Given the description of an element on the screen output the (x, y) to click on. 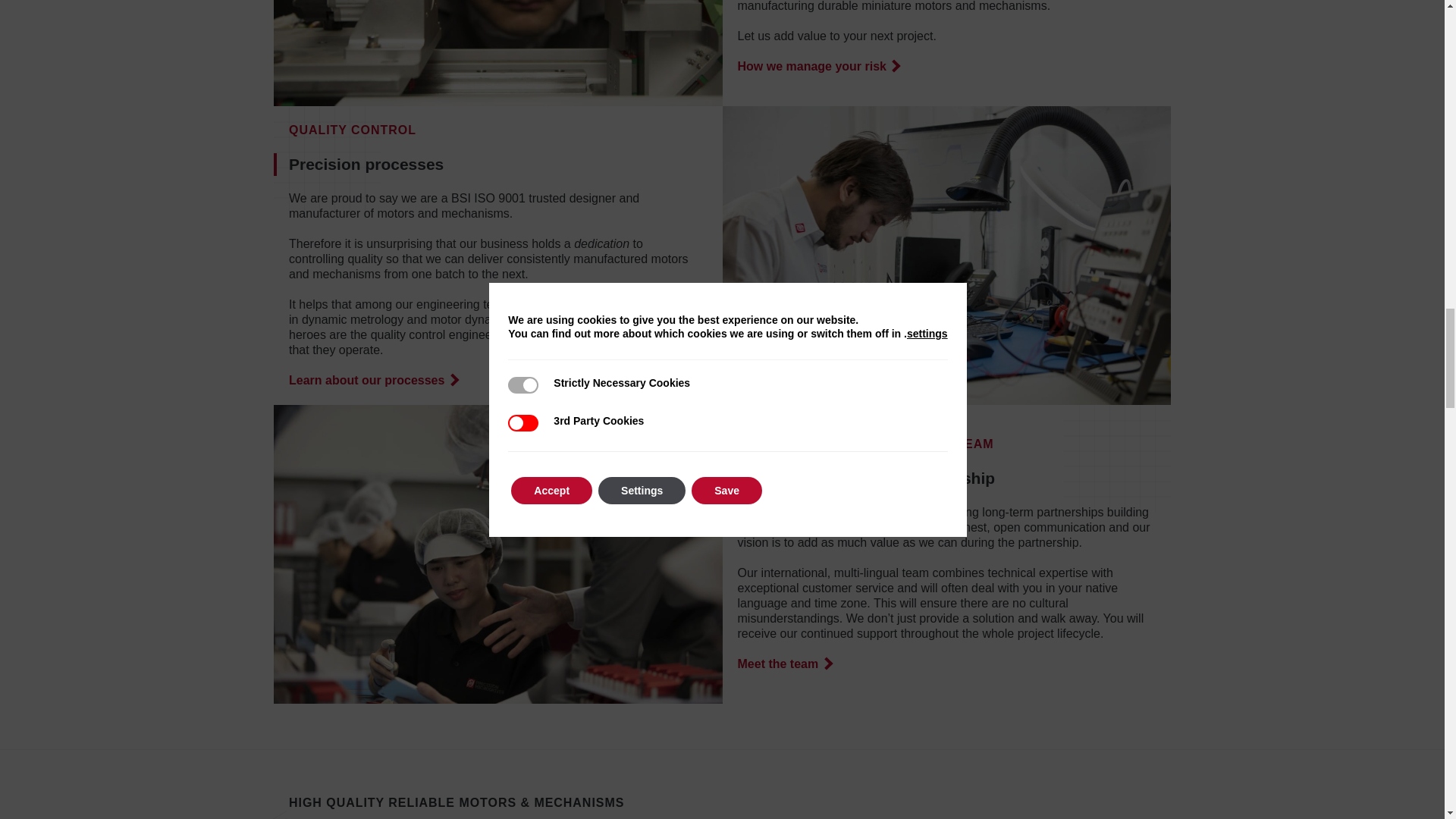
How we manage your risk (817, 66)
